Given the description of an element on the screen output the (x, y) to click on. 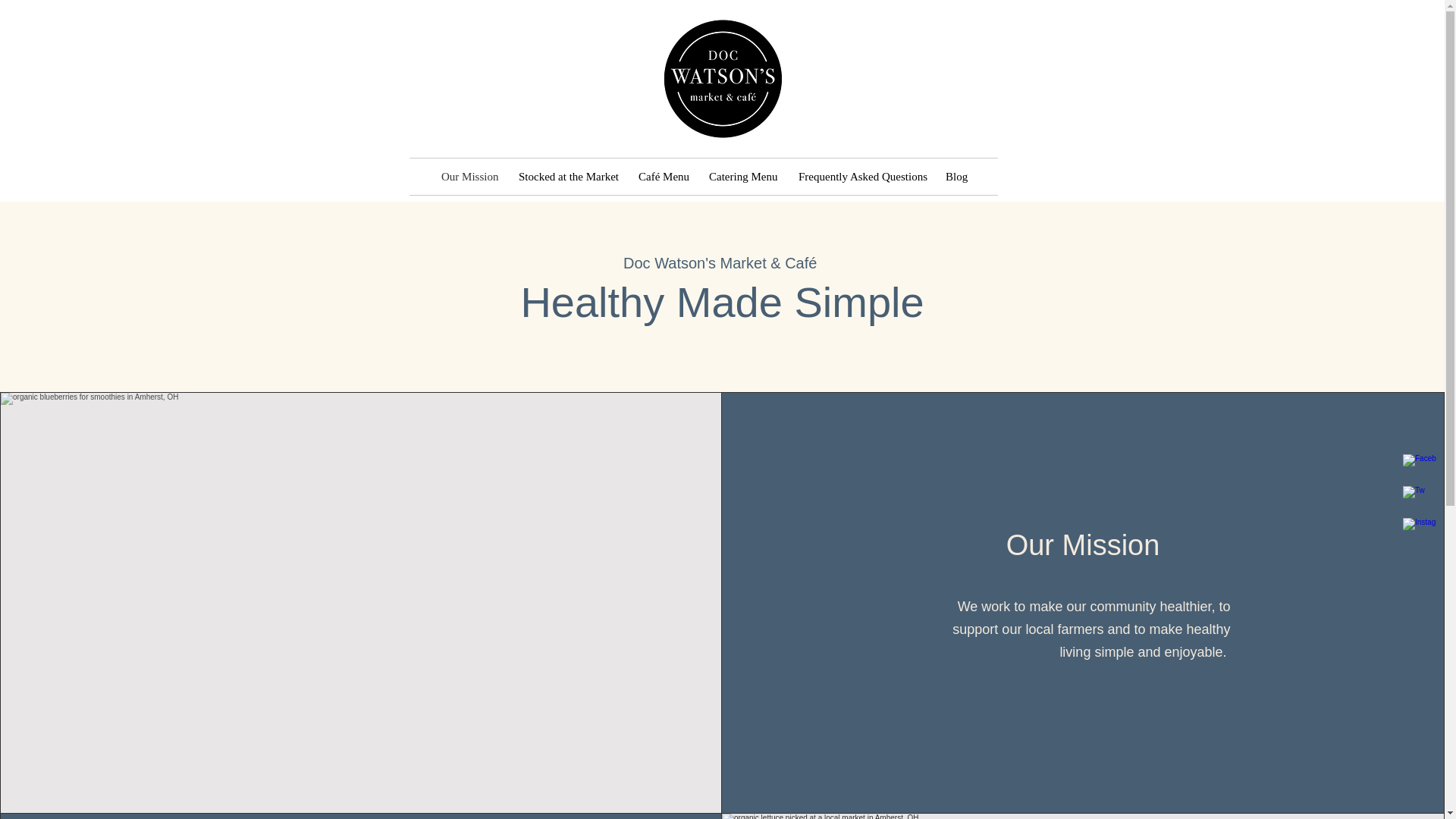
Frequently Asked Questions (860, 176)
Our Mission (467, 176)
Blog (955, 176)
Stocked at the Market (566, 176)
Catering Menu (742, 176)
